Given the description of an element on the screen output the (x, y) to click on. 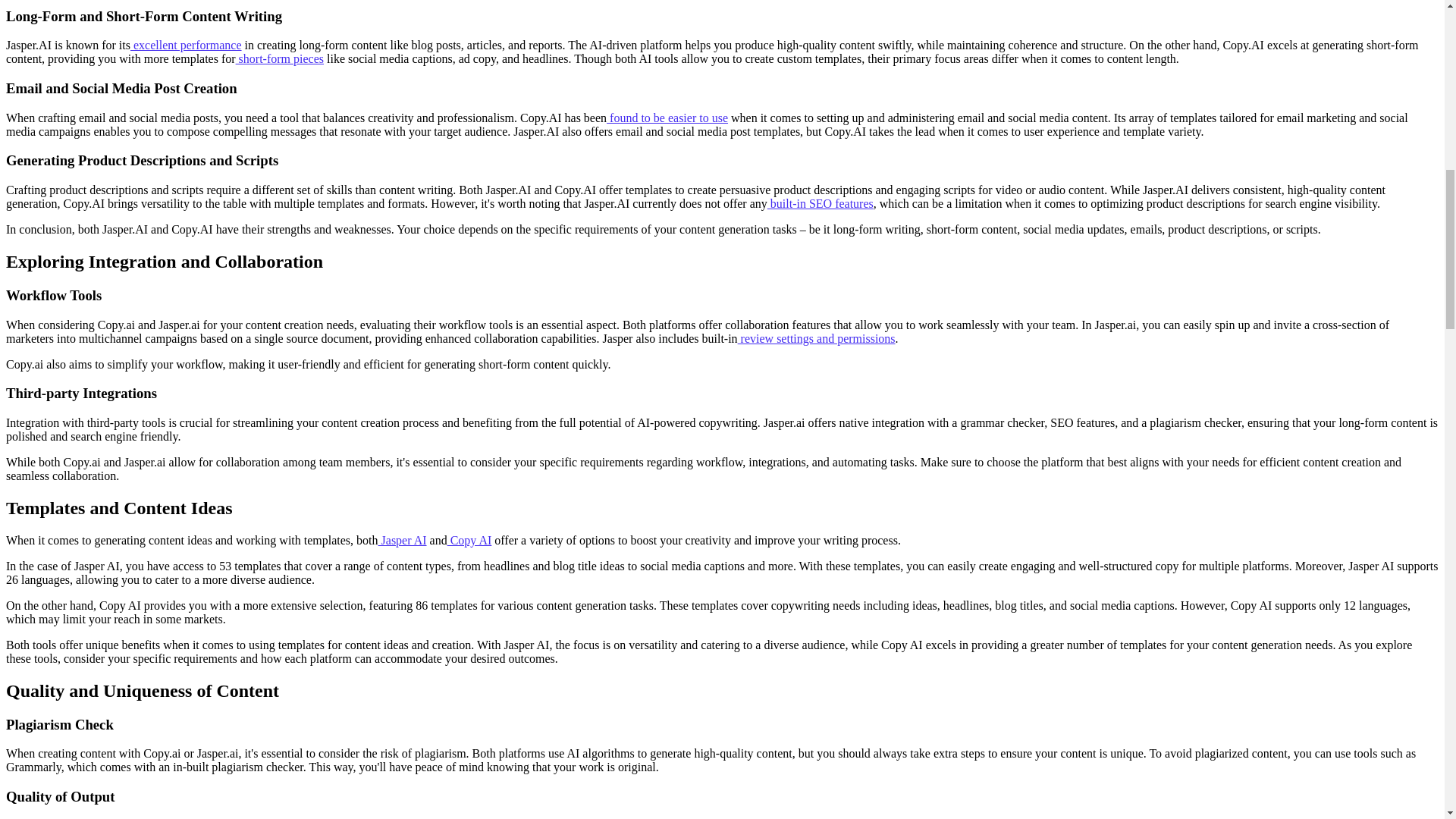
 review settings and permissions (816, 338)
 short-form pieces (279, 58)
 built-in SEO features (820, 203)
 found to be easier to use (667, 117)
 Jasper AI (402, 540)
 excellent performance (186, 44)
 Copy AI (469, 540)
